Given the description of an element on the screen output the (x, y) to click on. 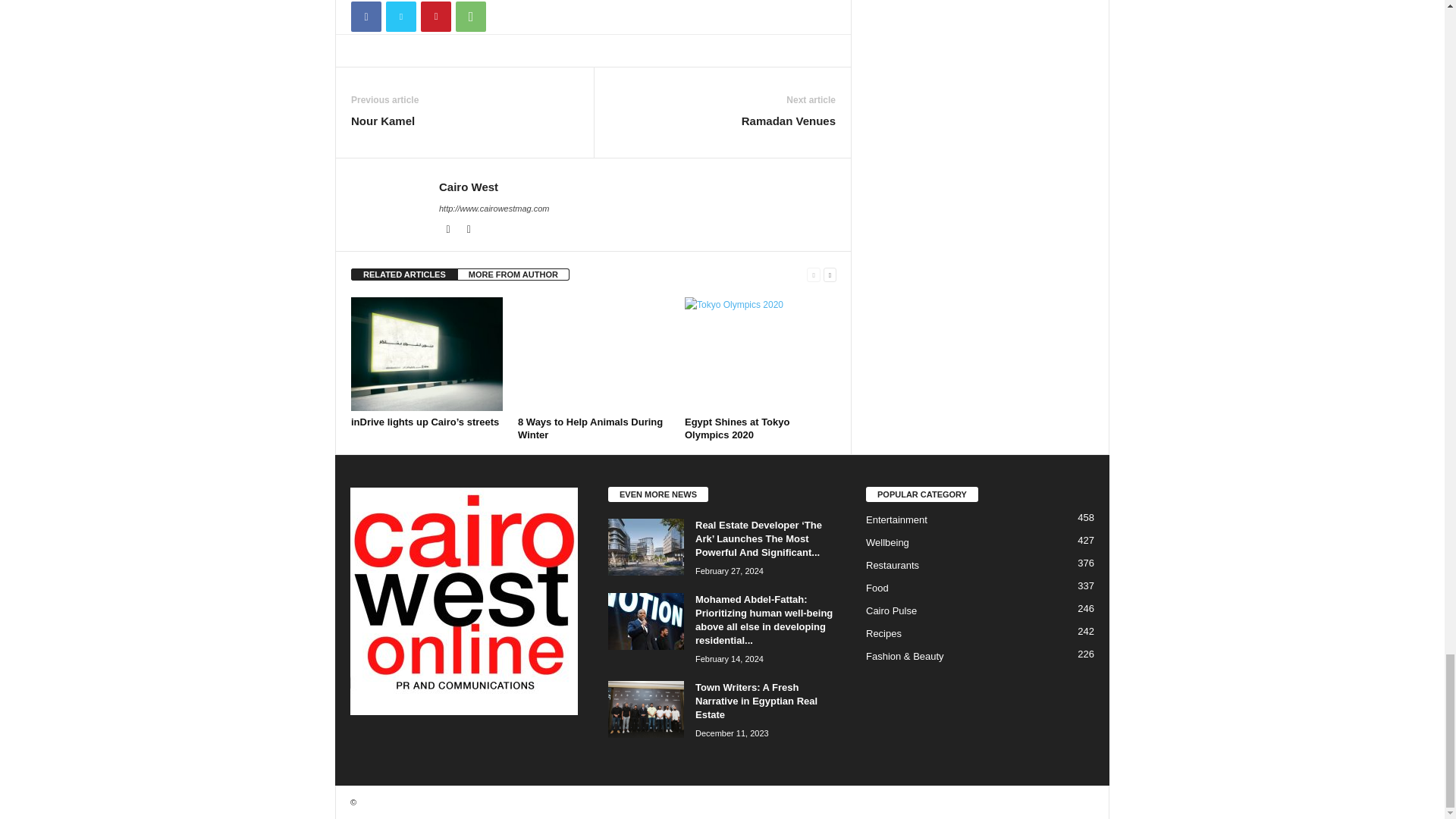
Facebook (449, 229)
Pinterest (435, 16)
WhatsApp (470, 16)
Twitter (468, 229)
Twitter (400, 16)
Facebook (365, 16)
